Given the description of an element on the screen output the (x, y) to click on. 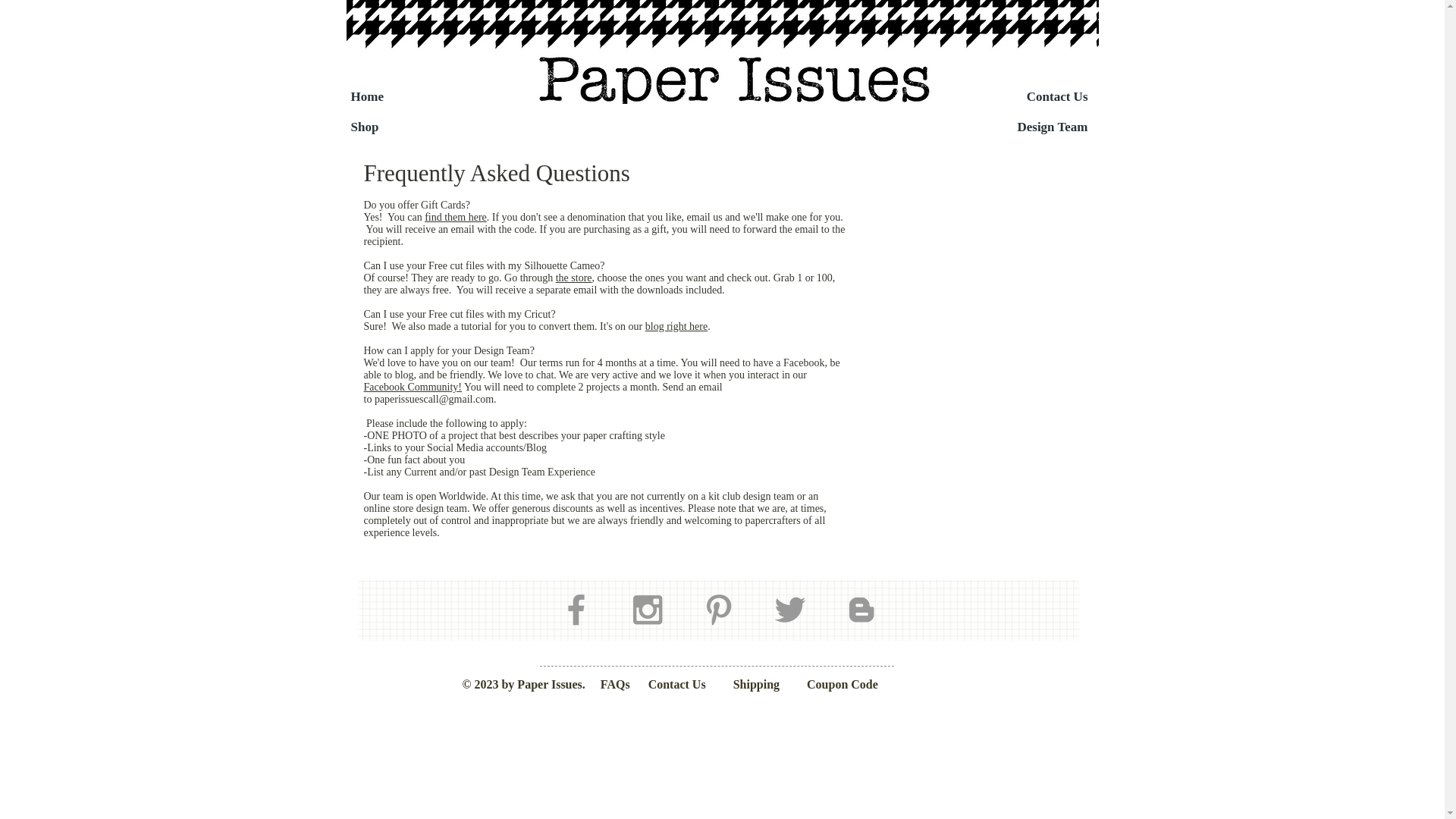
the store (574, 277)
Shipping (755, 684)
Contact Us (676, 684)
find them here (455, 216)
Facebook Community! (413, 387)
blog right here (676, 326)
FAQs (613, 684)
Home (404, 96)
Shop (404, 127)
Contact Us (1033, 96)
Coupon Code (841, 684)
Design Team (1033, 127)
